Given the description of an element on the screen output the (x, y) to click on. 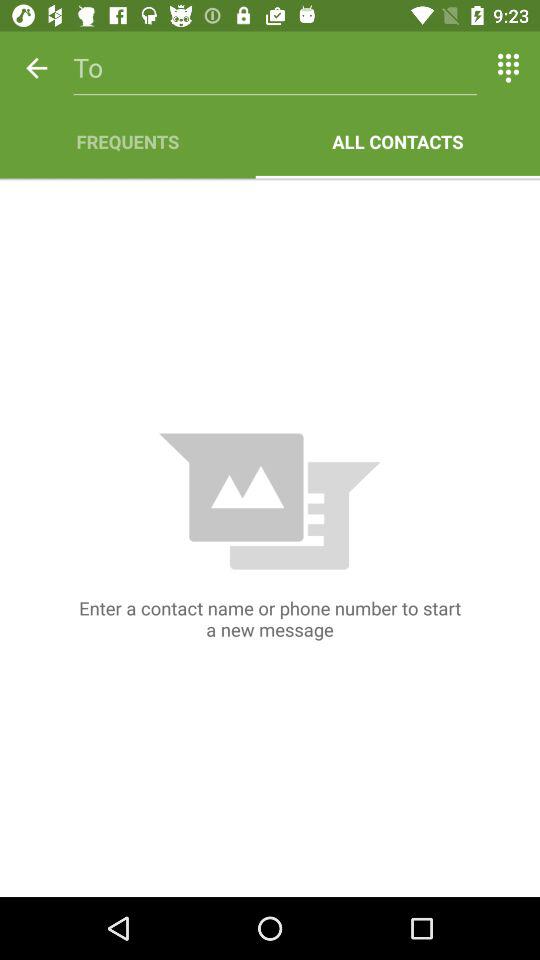
press the icon next to all contacts (127, 141)
